Given the description of an element on the screen output the (x, y) to click on. 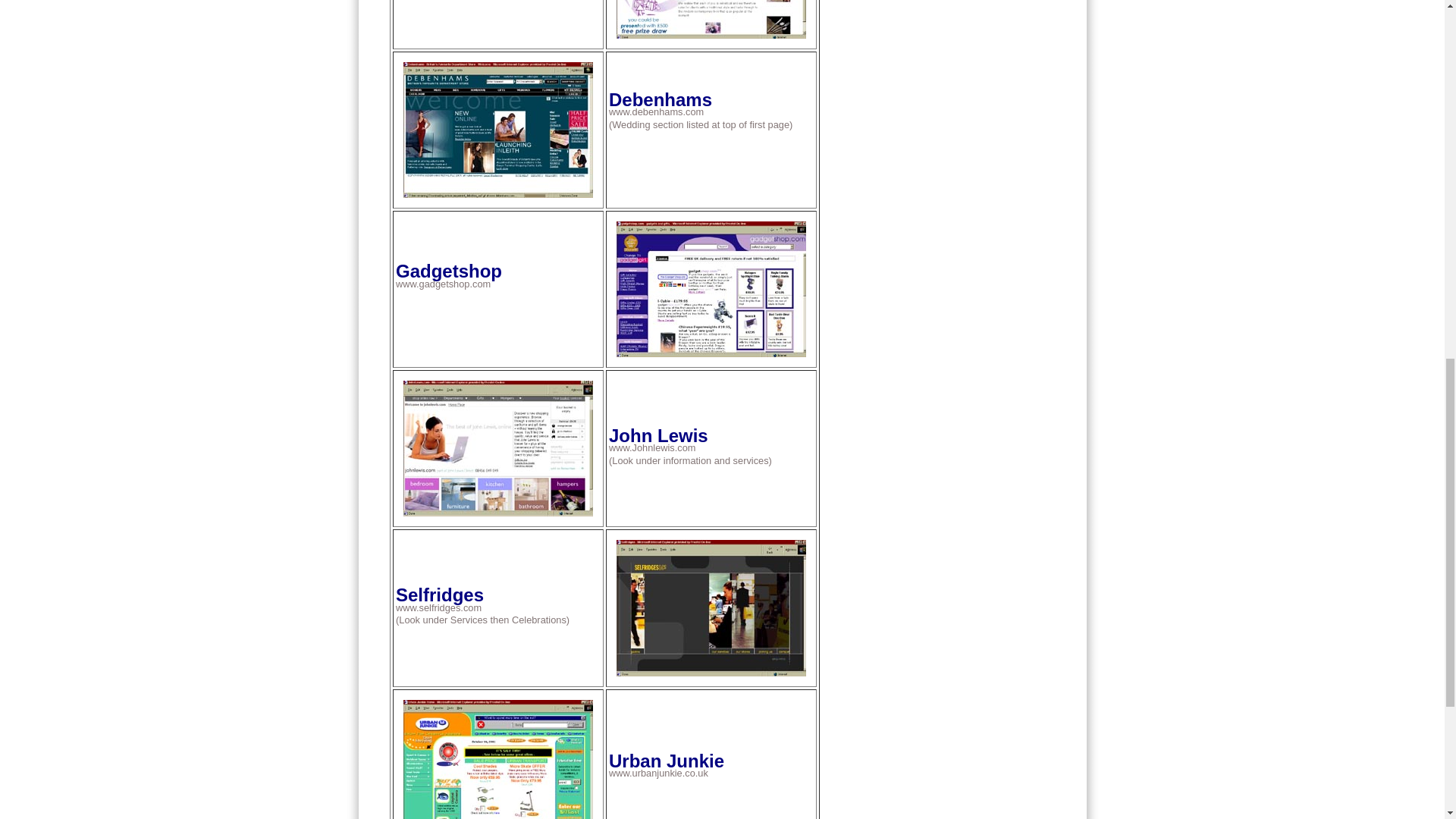
www.gadgetshop.com (443, 283)
www.Johnlewis.com (651, 447)
www.selfridges.com (438, 607)
www.urbanjunkie.co.uk (657, 772)
www.debenhams.com (655, 111)
